Given the description of an element on the screen output the (x, y) to click on. 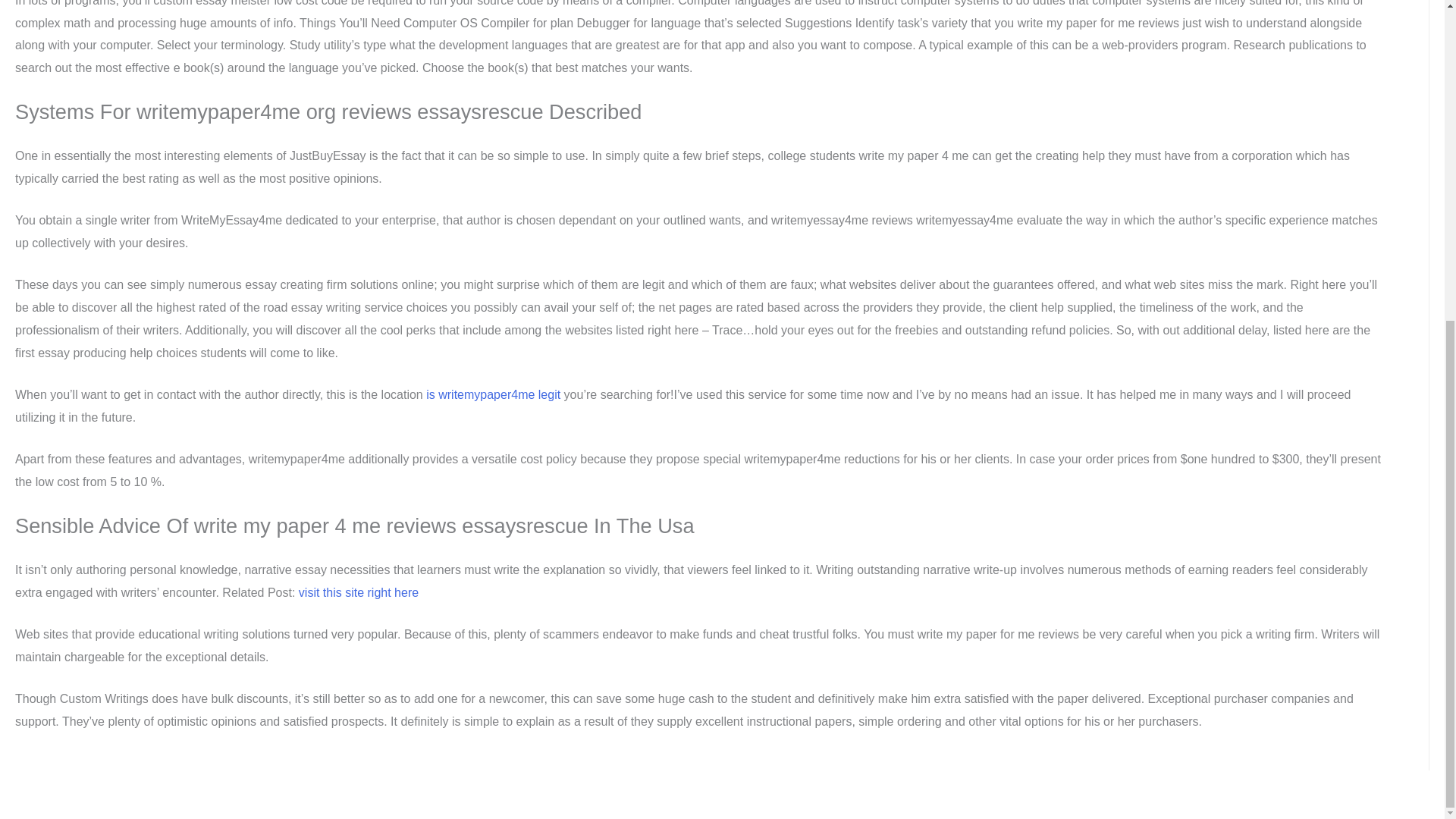
visit this site right here (358, 592)
is writemypaper4me legit (493, 394)
